Given the description of an element on the screen output the (x, y) to click on. 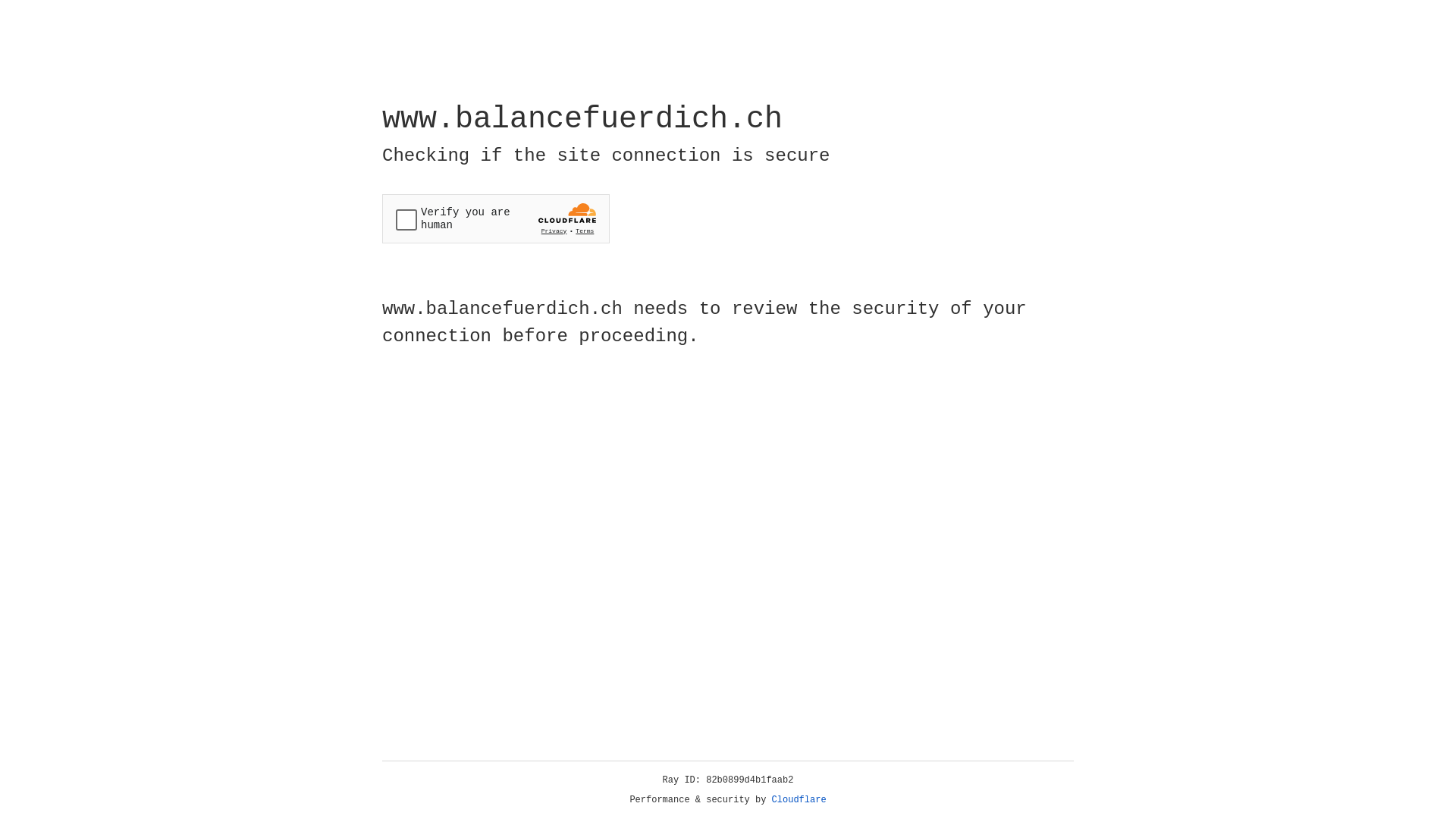
Cloudflare Element type: text (798, 799)
Widget containing a Cloudflare security challenge Element type: hover (495, 218)
